Given the description of an element on the screen output the (x, y) to click on. 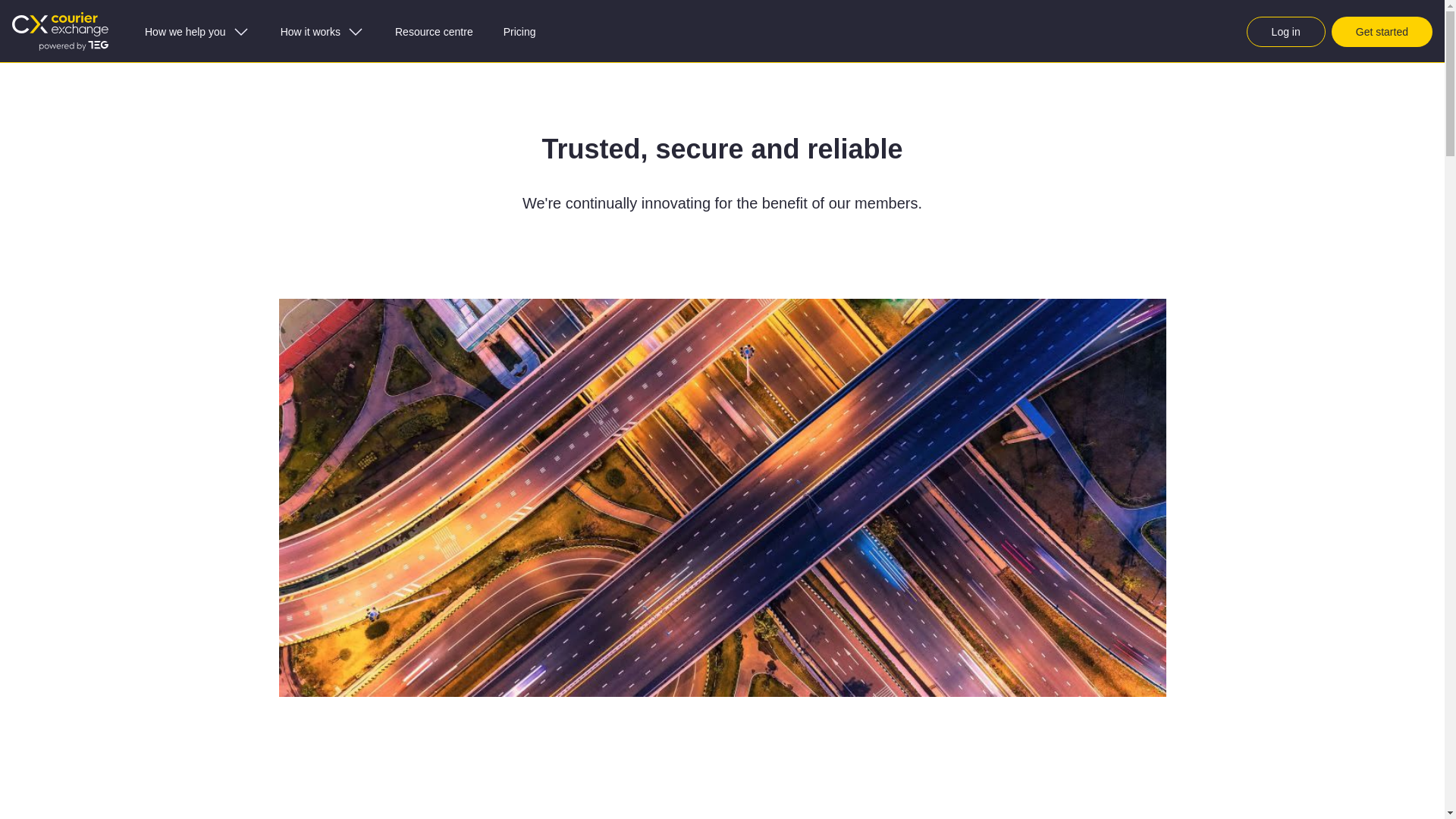
Get started (1382, 31)
Resource centre (433, 31)
Log in (1285, 31)
Go to home page (59, 31)
How we help you (197, 31)
Pricing (520, 31)
get started (1382, 31)
log in (1285, 31)
How it works (322, 31)
